Given the description of an element on the screen output the (x, y) to click on. 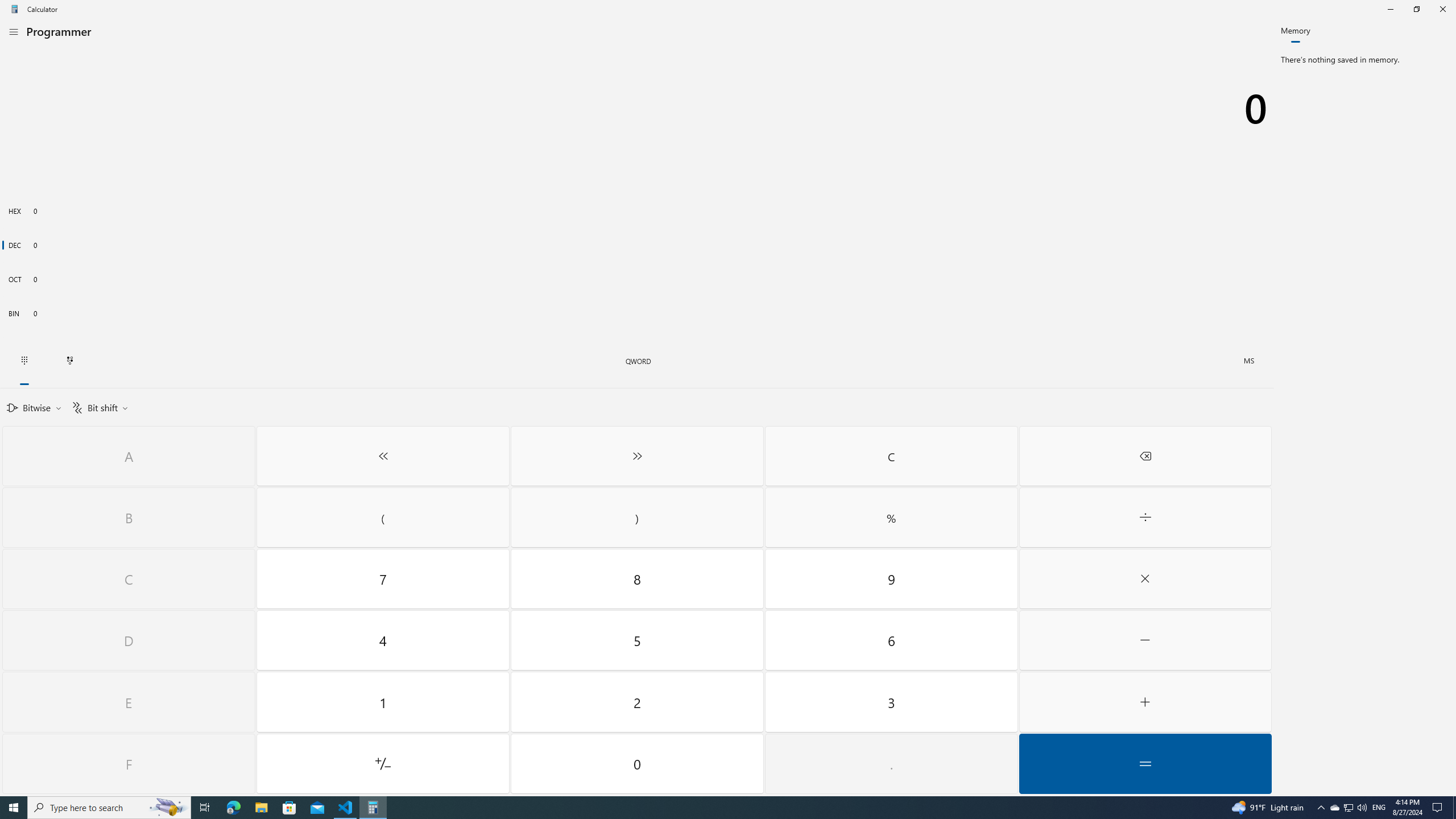
Clear (890, 455)
Microsoft Store (289, 807)
Five (637, 640)
Search highlights icon opens search home window (167, 807)
F (128, 763)
HexaDecimal 0  (636, 210)
Modulo (890, 517)
Eight (637, 578)
Decimal 0 (636, 244)
Action Center, No new notifications (1439, 807)
Minimize Calculator (1390, 9)
Visual Studio Code - 1 running window (345, 807)
Restore Calculator (1416, 9)
Left shift (1347, 807)
